Given the description of an element on the screen output the (x, y) to click on. 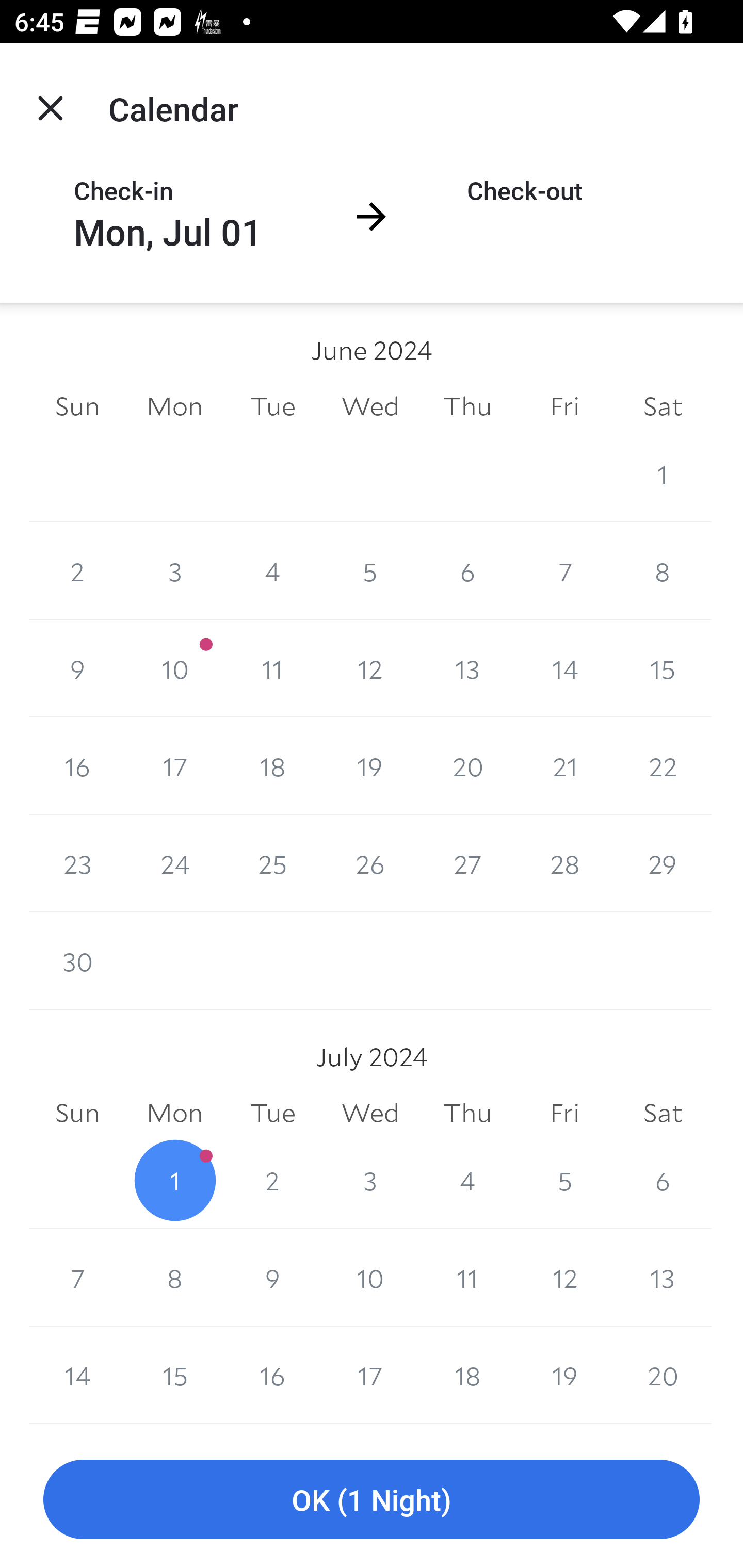
Sun (77, 405)
Mon (174, 405)
Tue (272, 405)
Wed (370, 405)
Thu (467, 405)
Fri (564, 405)
Sat (662, 405)
1 1 June 2024 (662, 473)
2 2 June 2024 (77, 570)
3 3 June 2024 (174, 570)
4 4 June 2024 (272, 570)
5 5 June 2024 (370, 570)
6 6 June 2024 (467, 570)
7 7 June 2024 (564, 570)
8 8 June 2024 (662, 570)
9 9 June 2024 (77, 668)
10 10 June 2024 (174, 668)
11 11 June 2024 (272, 668)
12 12 June 2024 (370, 668)
13 13 June 2024 (467, 668)
14 14 June 2024 (564, 668)
15 15 June 2024 (662, 668)
16 16 June 2024 (77, 766)
17 17 June 2024 (174, 766)
18 18 June 2024 (272, 766)
19 19 June 2024 (370, 766)
20 20 June 2024 (467, 766)
21 21 June 2024 (564, 766)
22 22 June 2024 (662, 766)
23 23 June 2024 (77, 863)
24 24 June 2024 (174, 863)
25 25 June 2024 (272, 863)
26 26 June 2024 (370, 863)
27 27 June 2024 (467, 863)
28 28 June 2024 (564, 863)
29 29 June 2024 (662, 863)
30 30 June 2024 (77, 960)
Sun (77, 1113)
Mon (174, 1113)
Tue (272, 1113)
Wed (370, 1113)
Thu (467, 1113)
Fri (564, 1113)
Sat (662, 1113)
1 1 July 2024 (174, 1180)
2 2 July 2024 (272, 1180)
3 3 July 2024 (370, 1180)
4 4 July 2024 (467, 1180)
5 5 July 2024 (564, 1180)
